Given the description of an element on the screen output the (x, y) to click on. 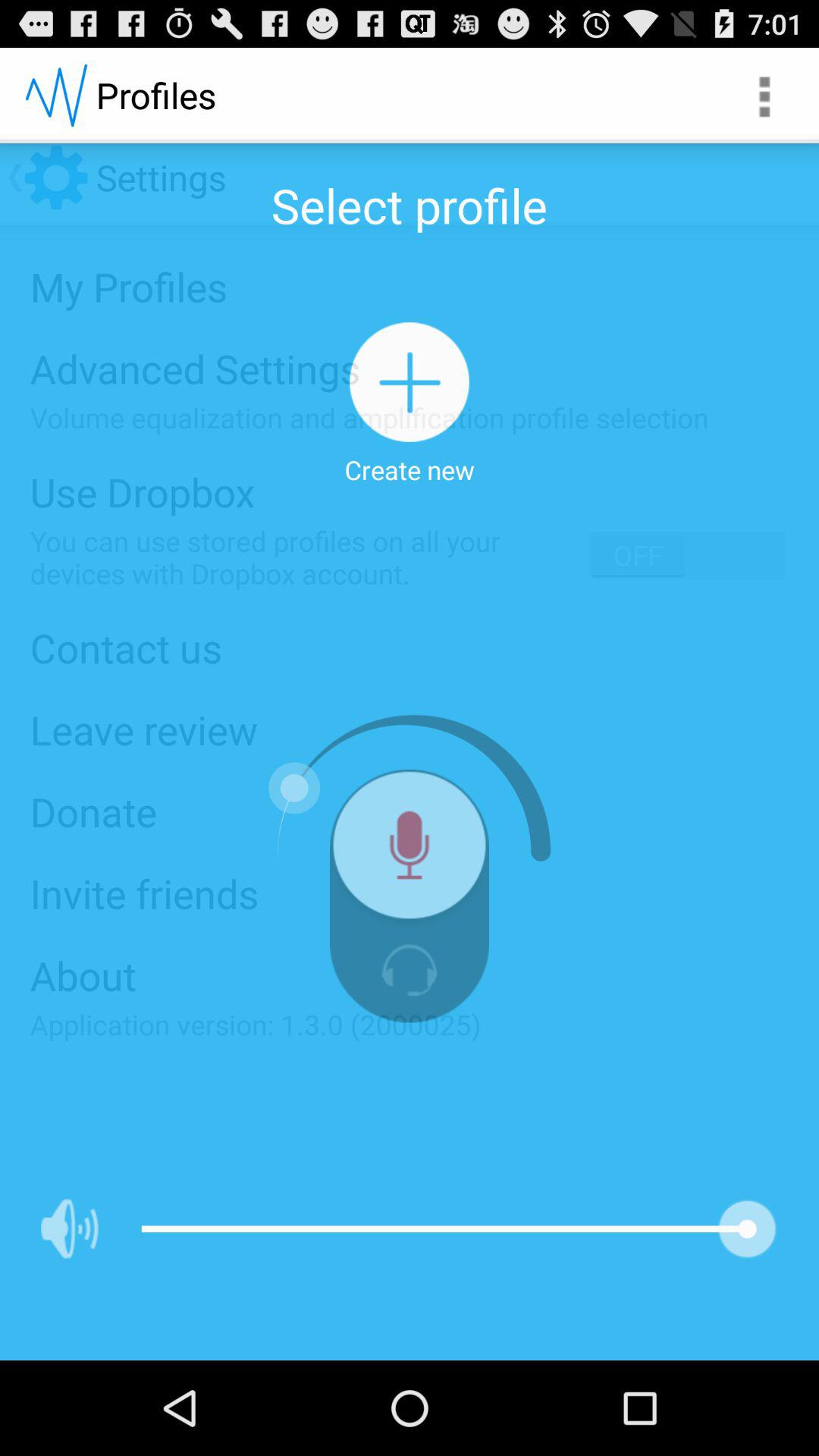
record audio (409, 851)
